Given the description of an element on the screen output the (x, y) to click on. 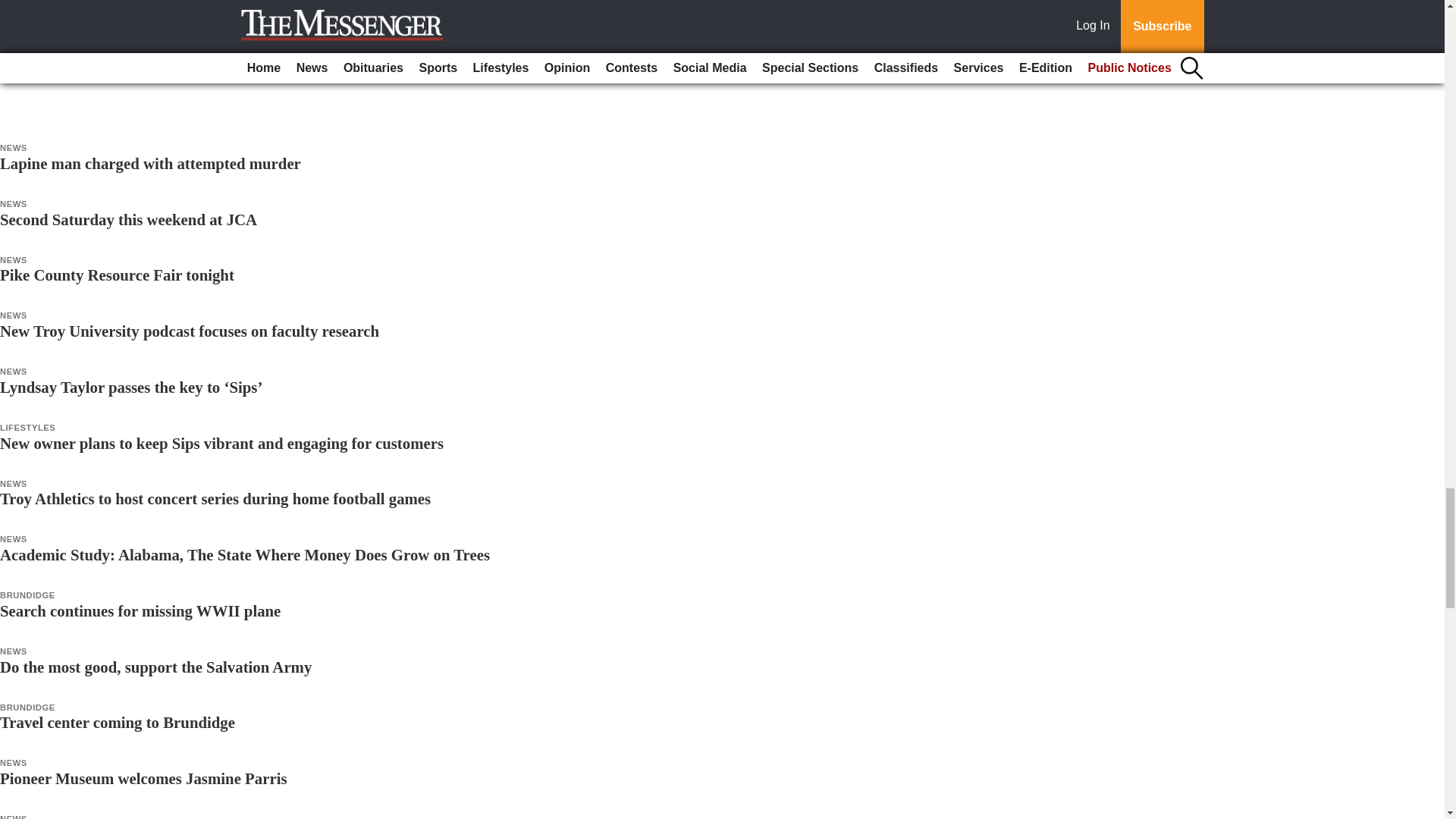
Search continues for missing WWII plane (140, 610)
Travel center coming to Brundidge (117, 722)
Pike County Resource Fair tonight (117, 274)
Pioneer Museum  welcomes Jasmine Parris (143, 778)
Lapine man charged with attempted murder (150, 162)
New Troy University podcast focuses on faculty research (189, 330)
Do the most good, support the Salvation Army (155, 666)
Second Saturday this weekend at JCA (128, 219)
